Given the description of an element on the screen output the (x, y) to click on. 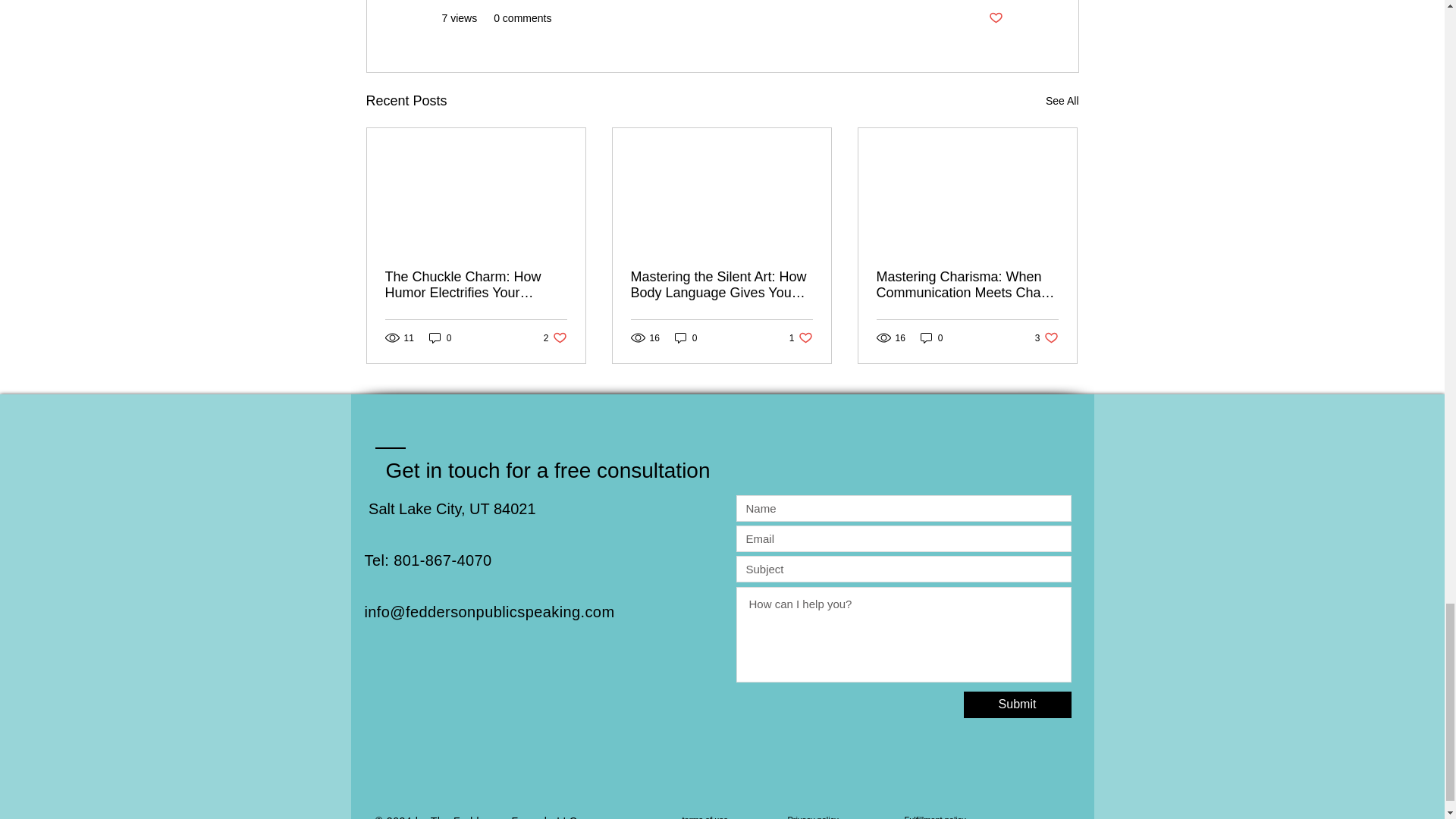
The Chuckle Charm: How Humor Electrifies Your Charisma (476, 285)
0 (800, 337)
0 (685, 337)
 terms of use (1046, 337)
See All (440, 337)
Submit (703, 816)
Post not marked as liked (1061, 101)
0 (1016, 704)
